Given the description of an element on the screen output the (x, y) to click on. 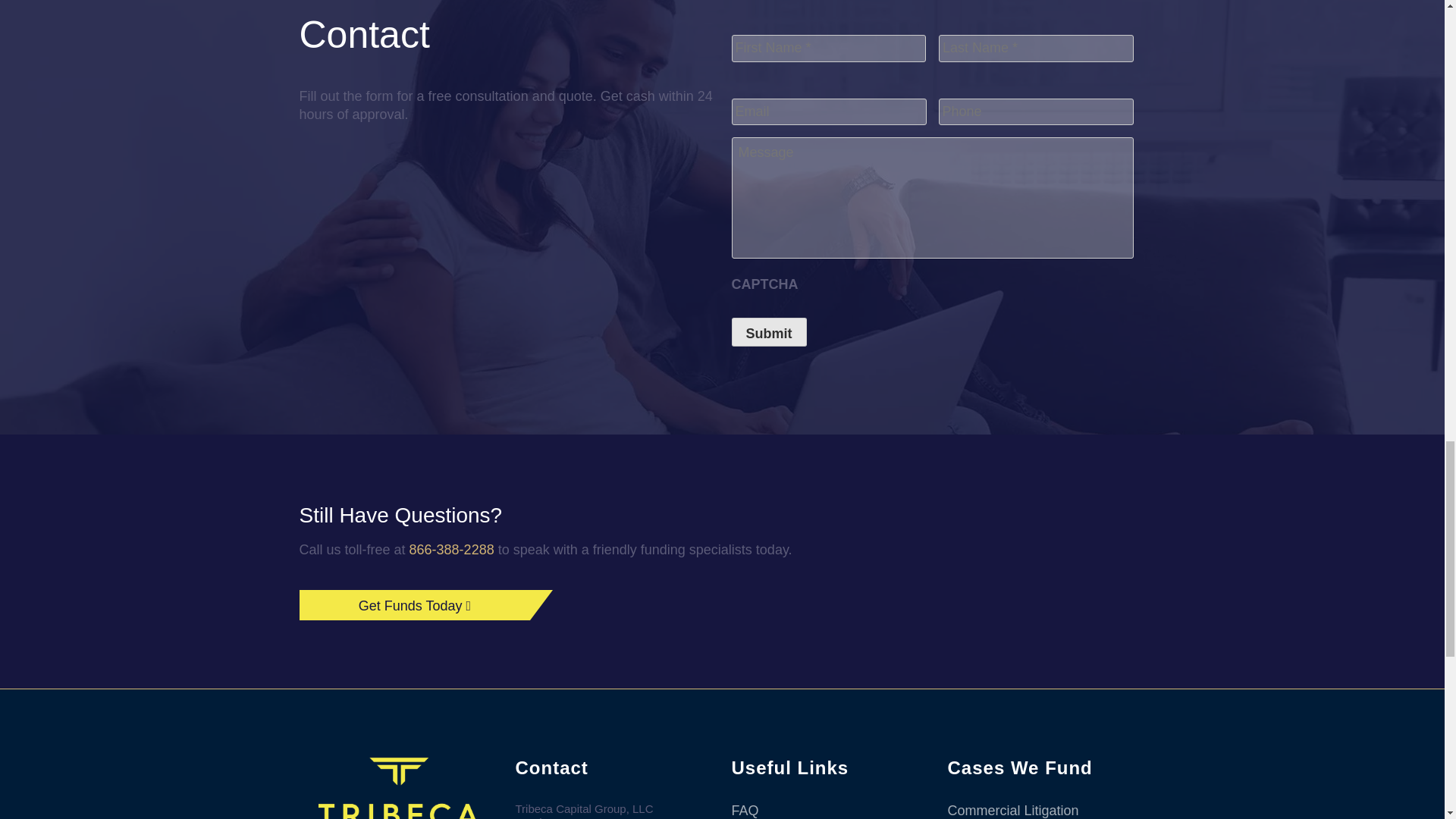
Submit (768, 331)
